Given the description of an element on the screen output the (x, y) to click on. 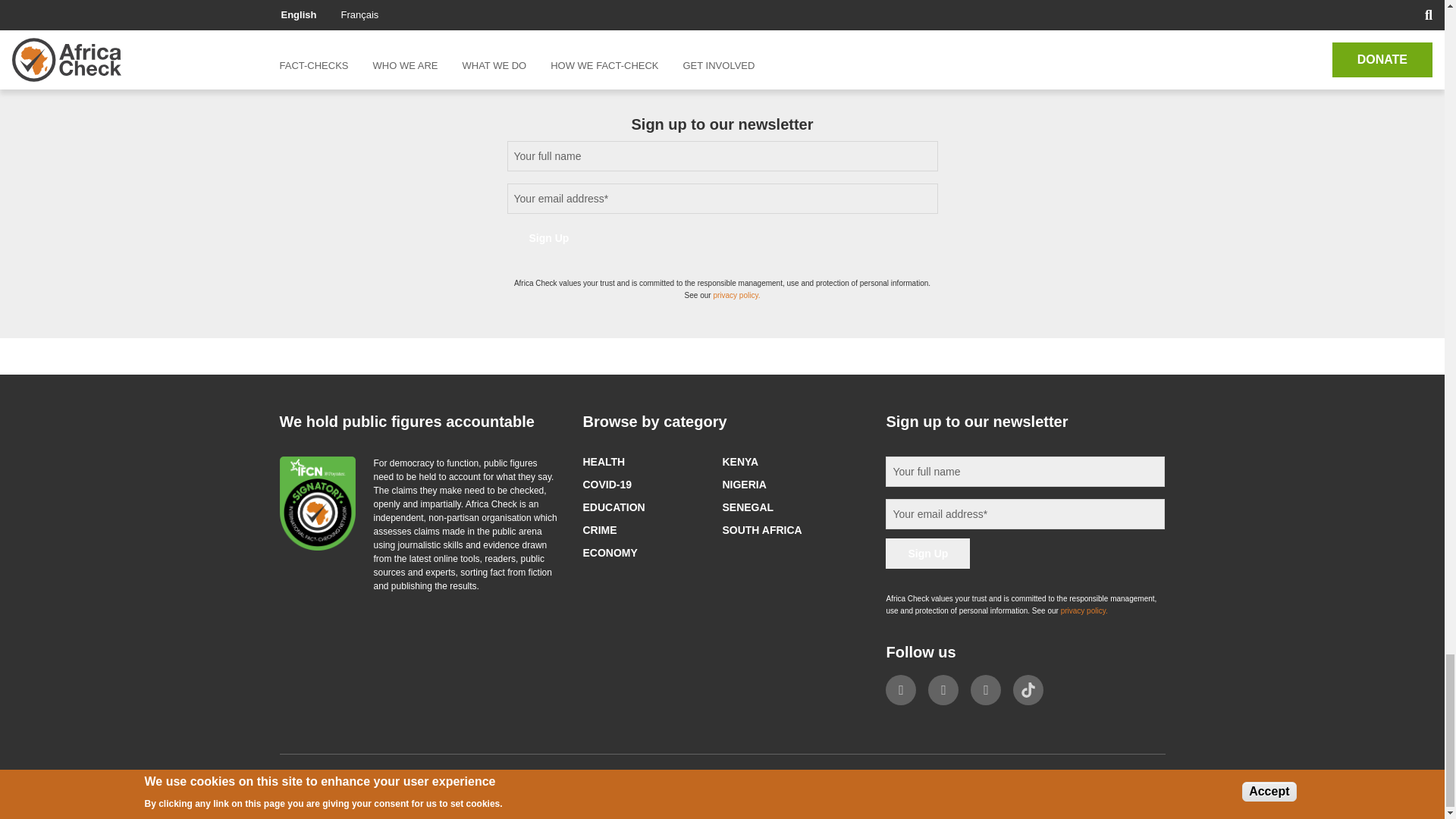
Save (319, 2)
Sign Up (927, 553)
Sign Up (548, 237)
